Given the description of an element on the screen output the (x, y) to click on. 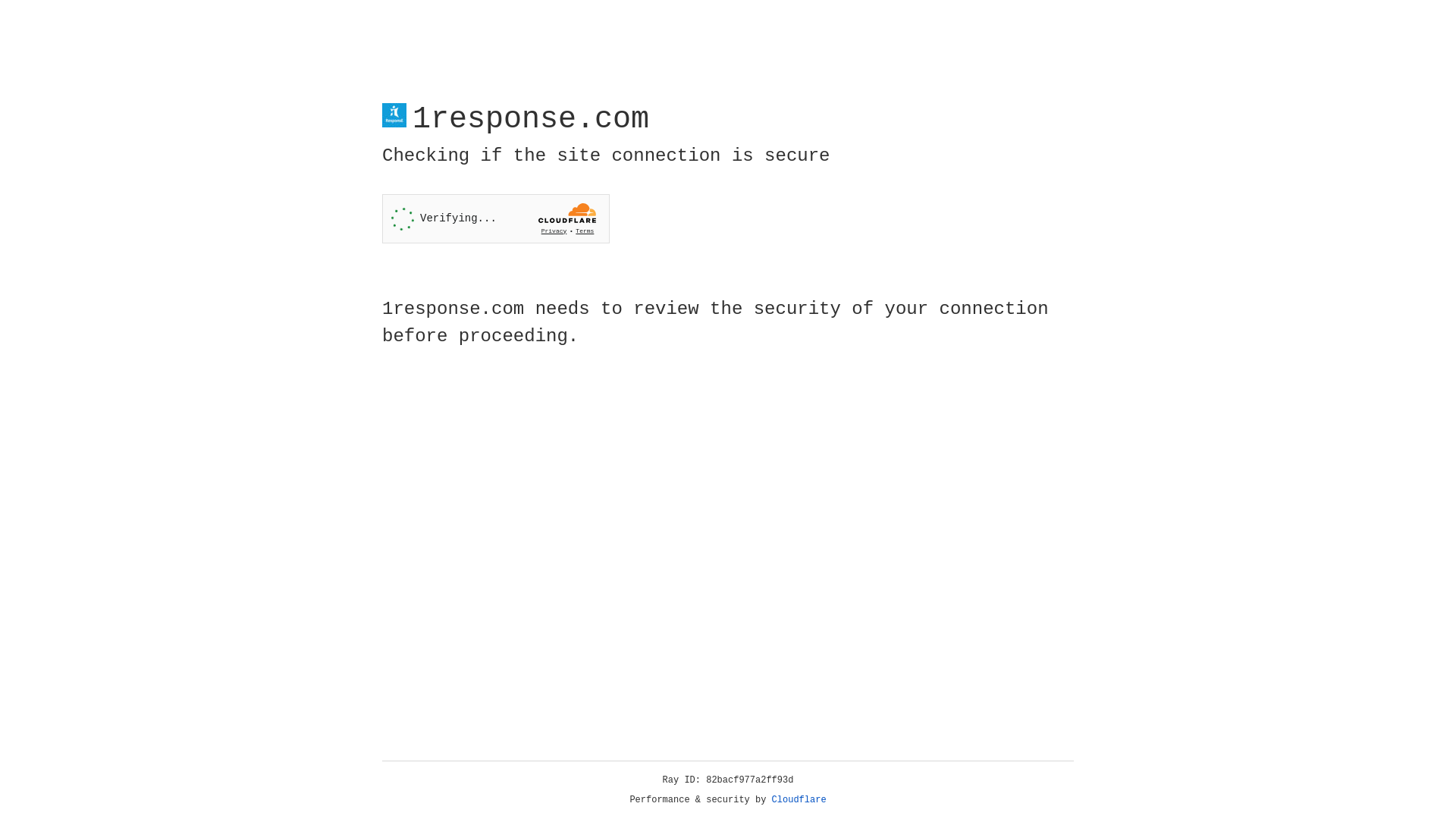
Widget containing a Cloudflare security challenge Element type: hover (495, 218)
Cloudflare Element type: text (798, 799)
